Given the description of an element on the screen output the (x, y) to click on. 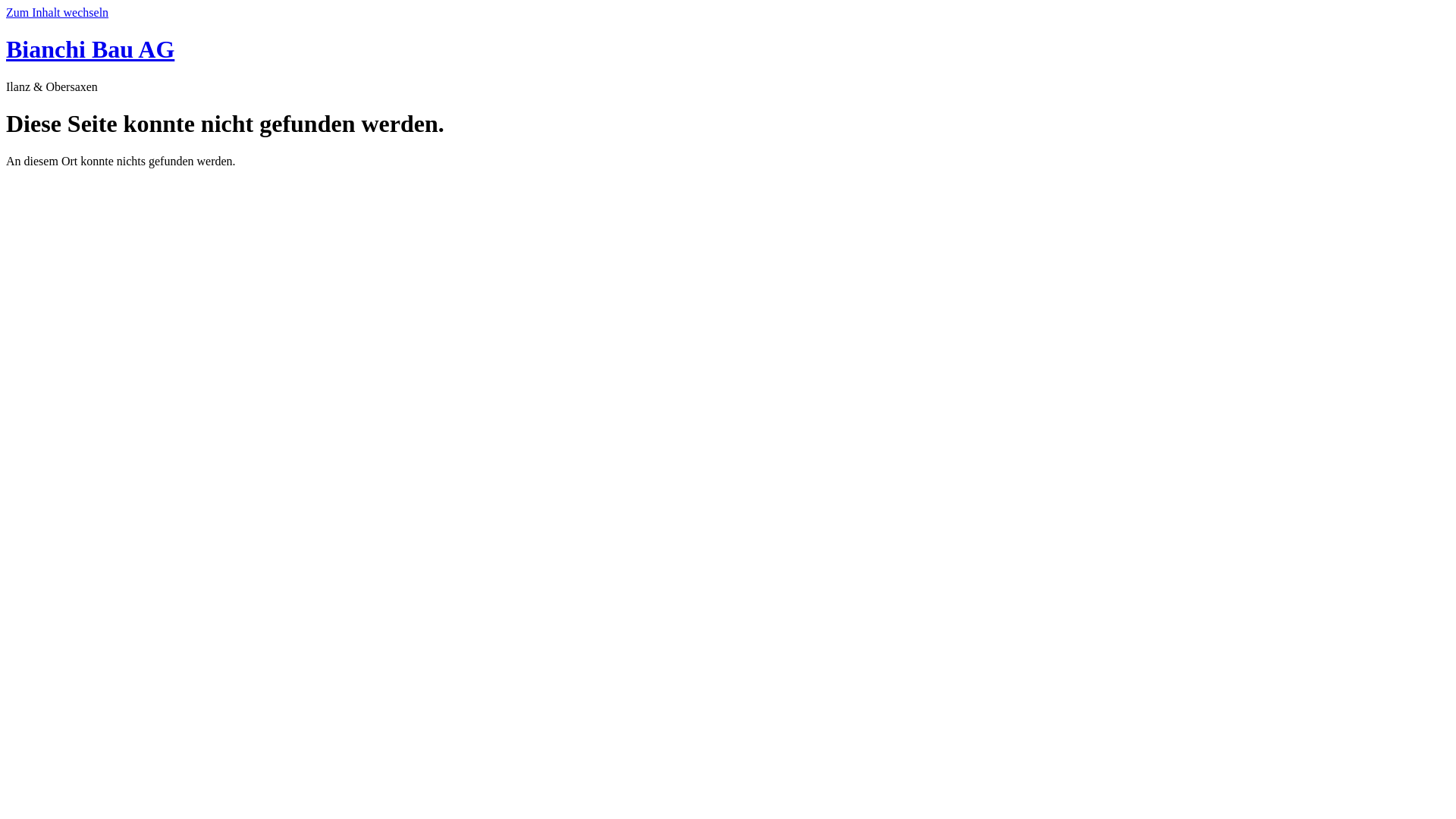
Zum Inhalt wechseln Element type: text (57, 12)
Bianchi Bau AG Element type: text (90, 48)
